Given the description of an element on the screen output the (x, y) to click on. 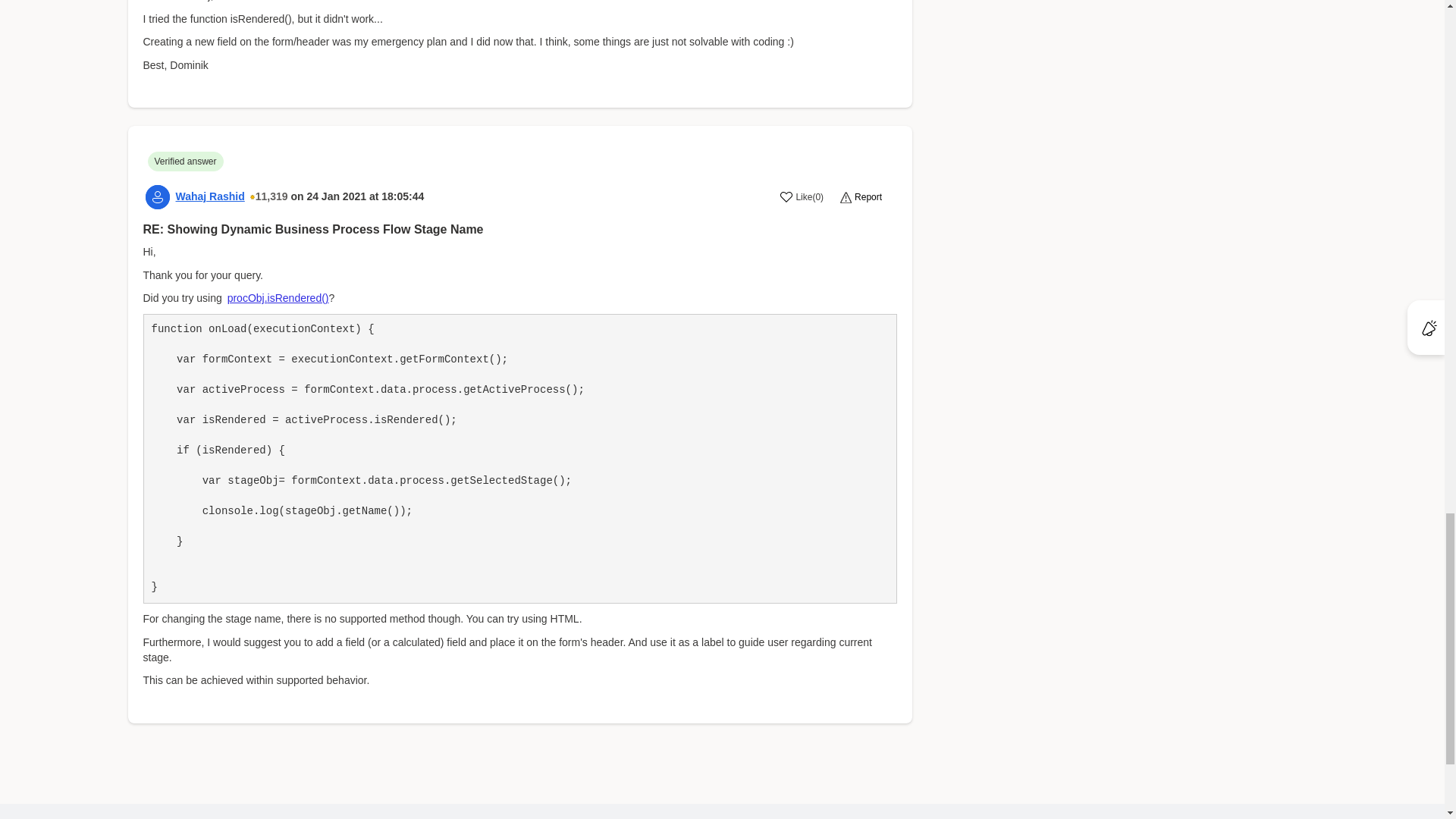
Wahaj Rashid (210, 196)
